Given the description of an element on the screen output the (x, y) to click on. 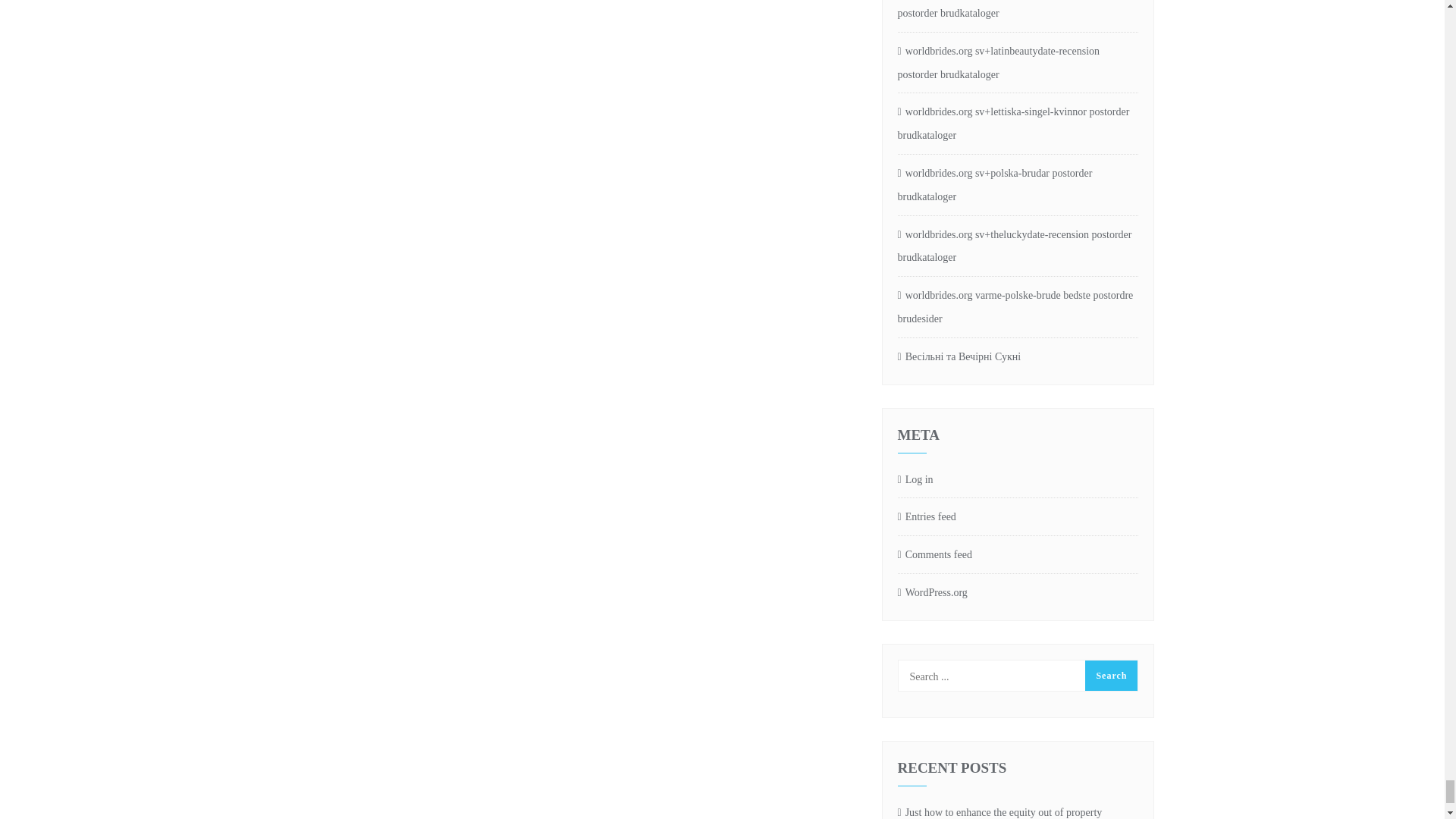
Search (1110, 675)
Search (1110, 675)
